Given the description of an element on the screen output the (x, y) to click on. 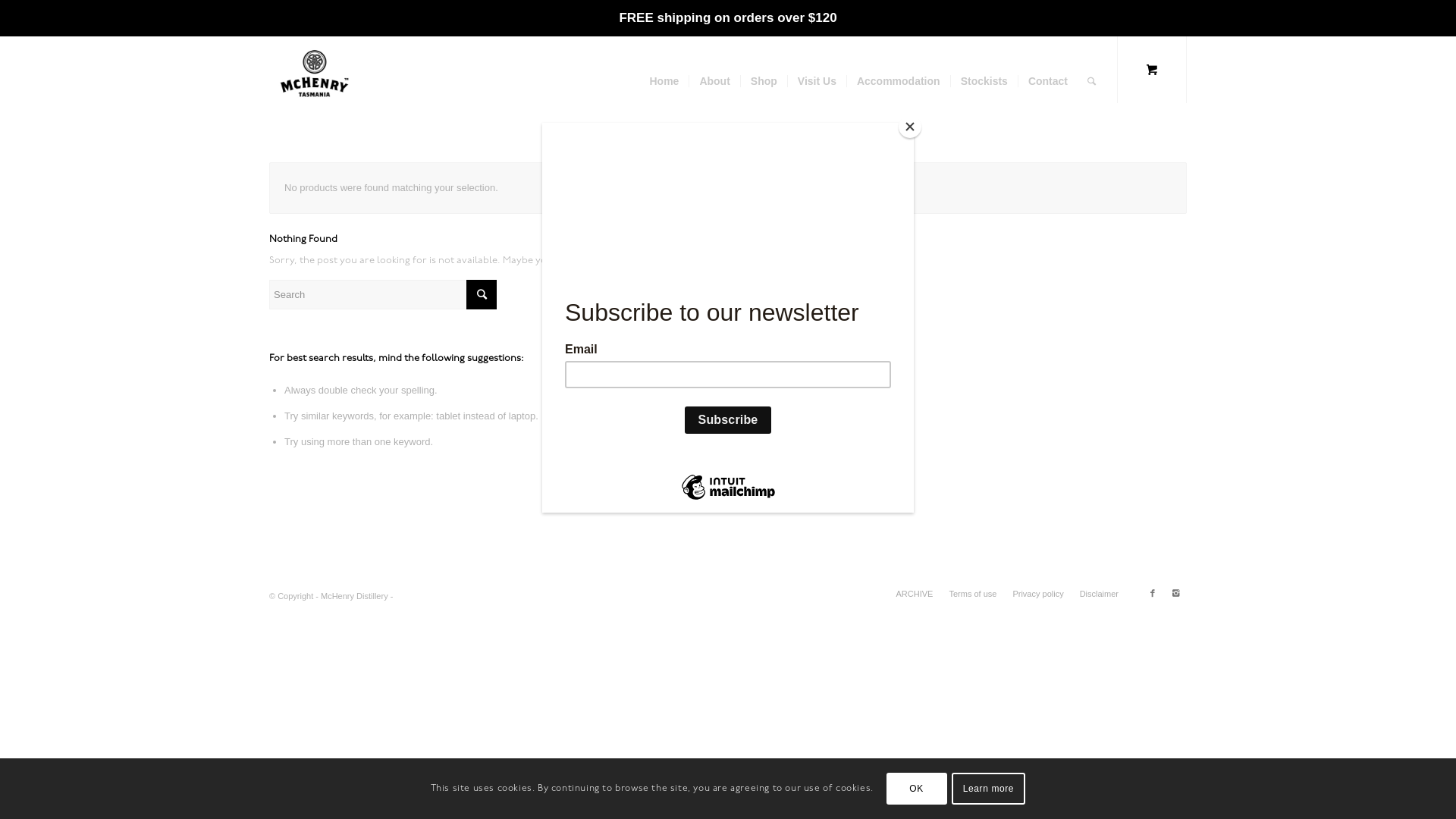
Stockists Element type: text (983, 80)
Contact Element type: text (1047, 80)
ARCHIVE Element type: text (914, 593)
Instagram Element type: hover (1175, 592)
Shop Element type: text (763, 80)
Visit Us Element type: text (816, 80)
Disclaimer Element type: text (1098, 593)
Home Element type: text (663, 80)
Privacy policy Element type: text (1037, 593)
Learn more Element type: text (988, 788)
Terms of use Element type: text (972, 593)
About Element type: text (713, 80)
Facebook Element type: hover (1152, 592)
OK Element type: text (916, 788)
Accommodation Element type: text (898, 80)
